Given the description of an element on the screen output the (x, y) to click on. 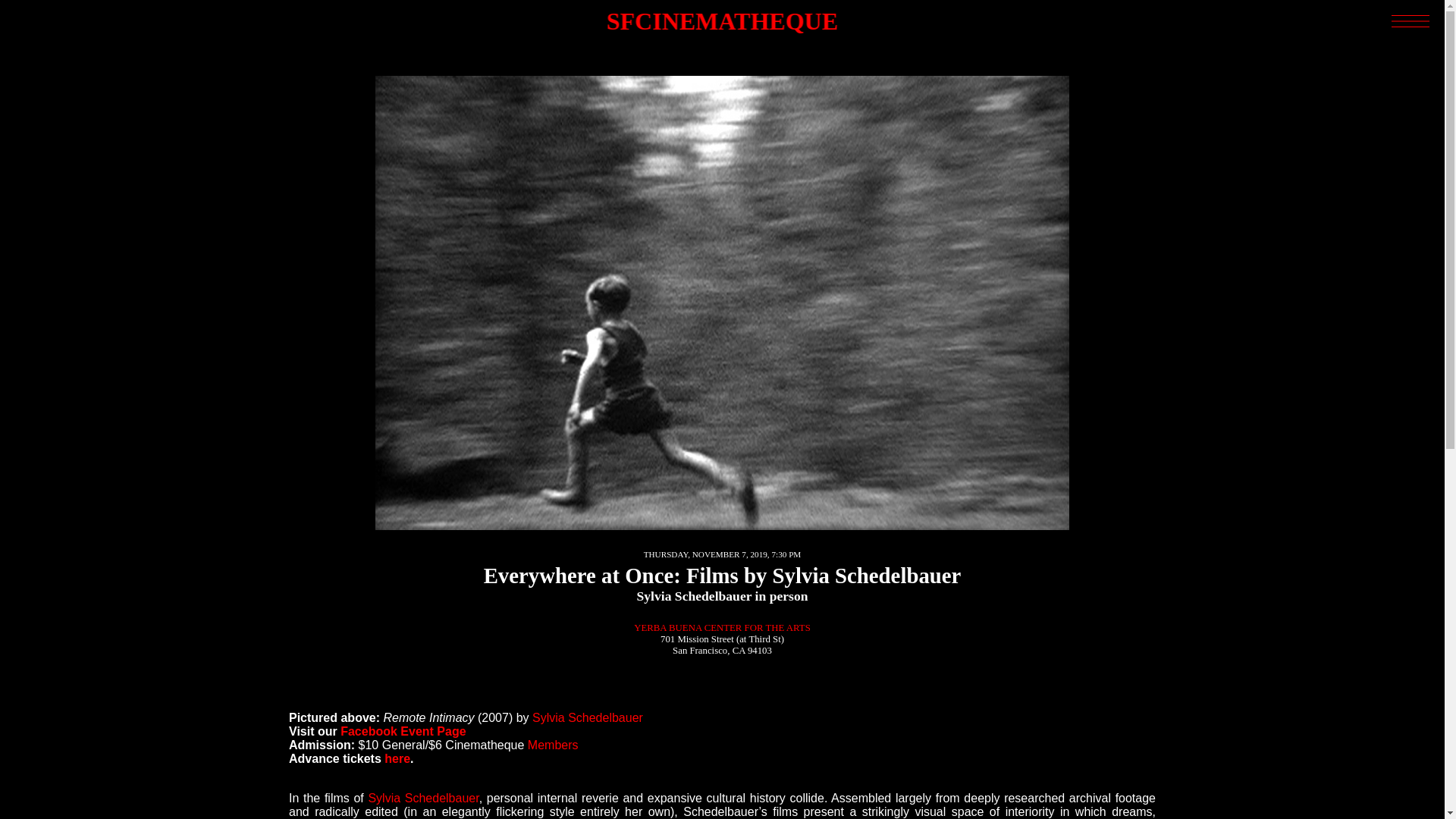
here (397, 758)
Sylvia Schedelbauer (423, 797)
